Given the description of an element on the screen output the (x, y) to click on. 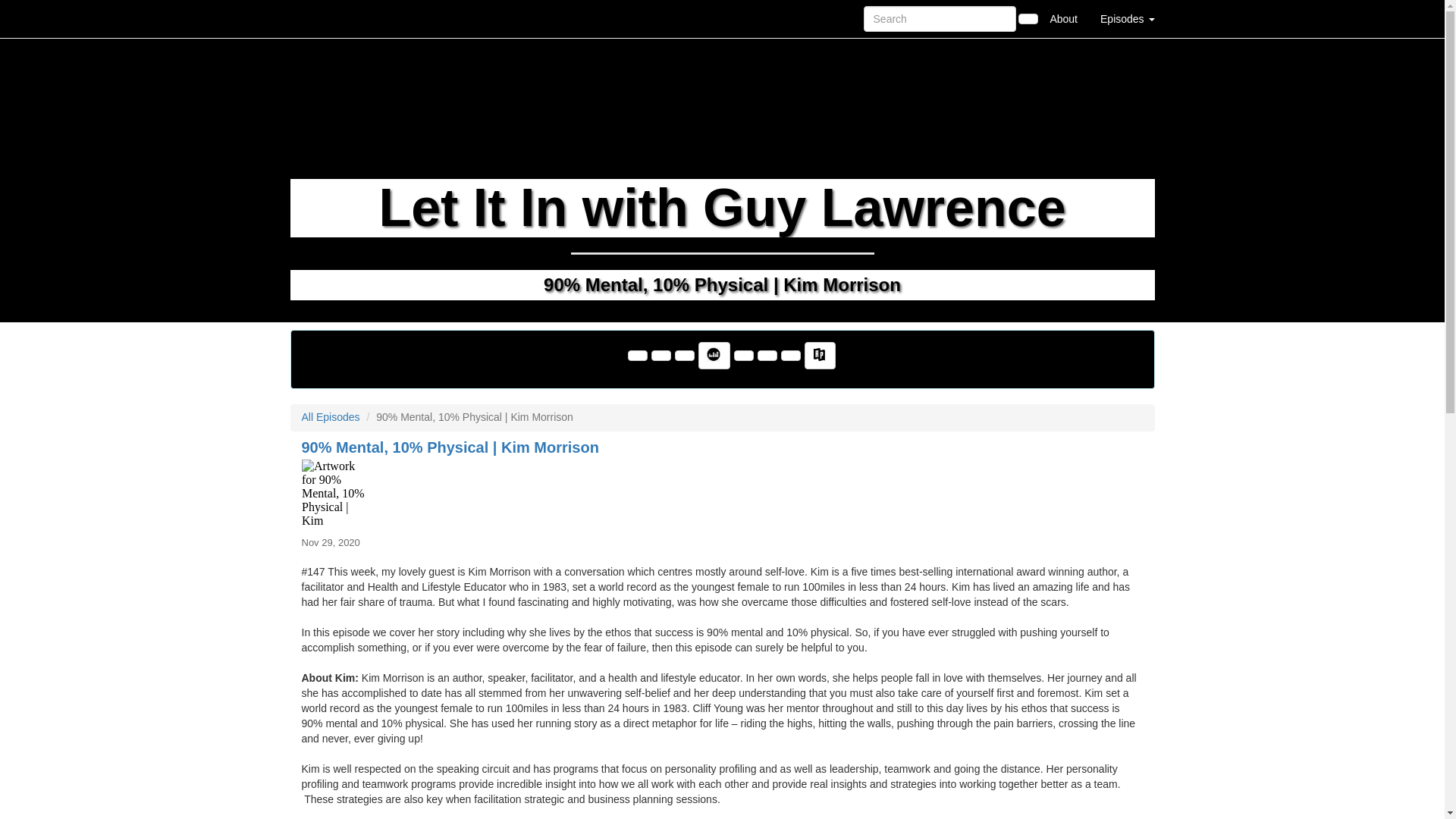
Home Page (320, 18)
Episodes (1127, 18)
About (1063, 18)
